Given the description of an element on the screen output the (x, y) to click on. 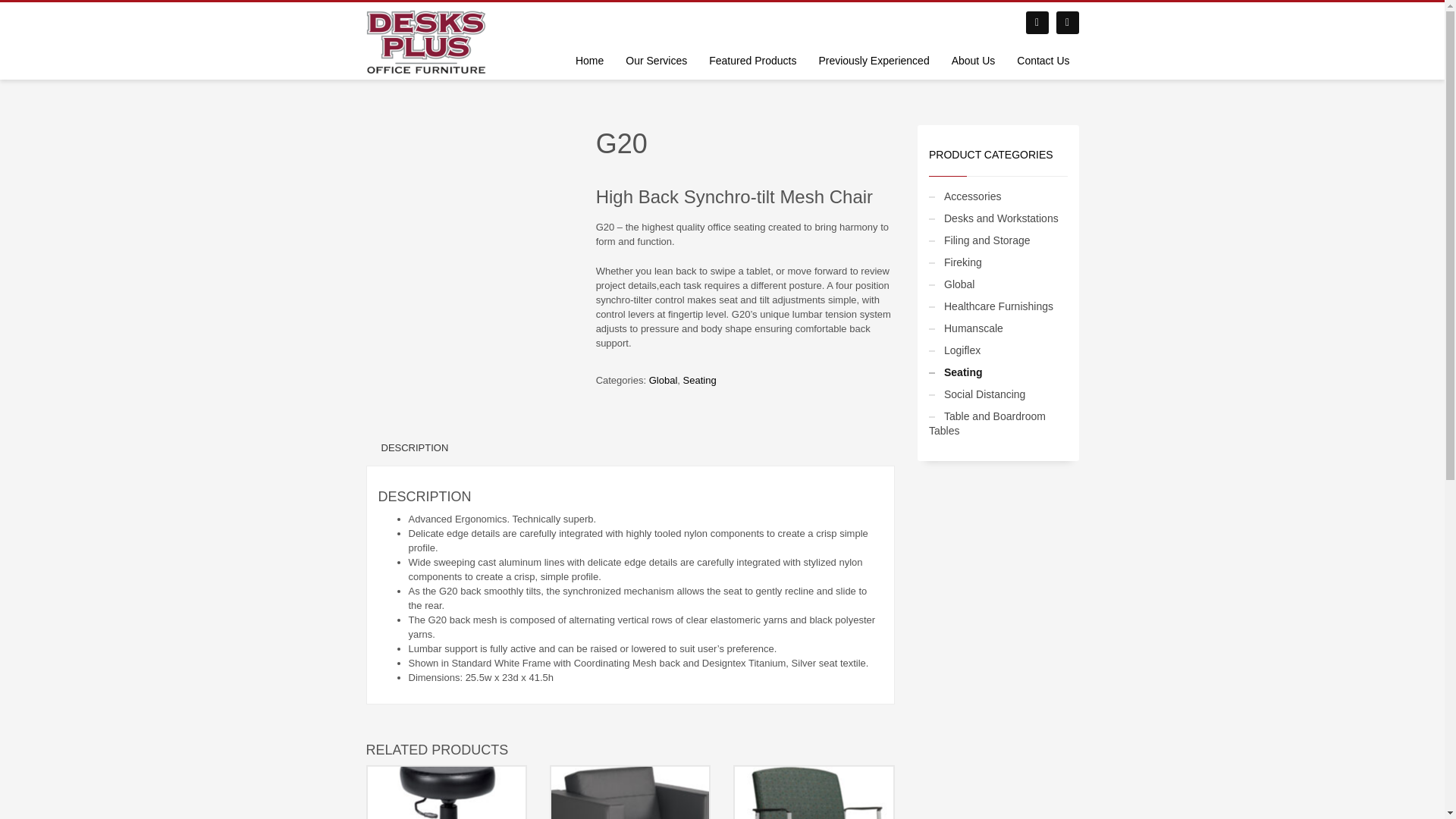
Previously Experienced (873, 60)
Filing and Storage (979, 239)
Fireking (954, 262)
Desks and Workstations (993, 217)
Our Services (655, 60)
Home (589, 60)
Healthcare Furnishings (990, 306)
Humanscale (965, 328)
Social Distancing (976, 393)
Accessories (964, 195)
Global (951, 284)
File Buddy (445, 791)
DESCRIPTION (414, 447)
Citi (630, 789)
Logiflex (953, 349)
